Given the description of an element on the screen output the (x, y) to click on. 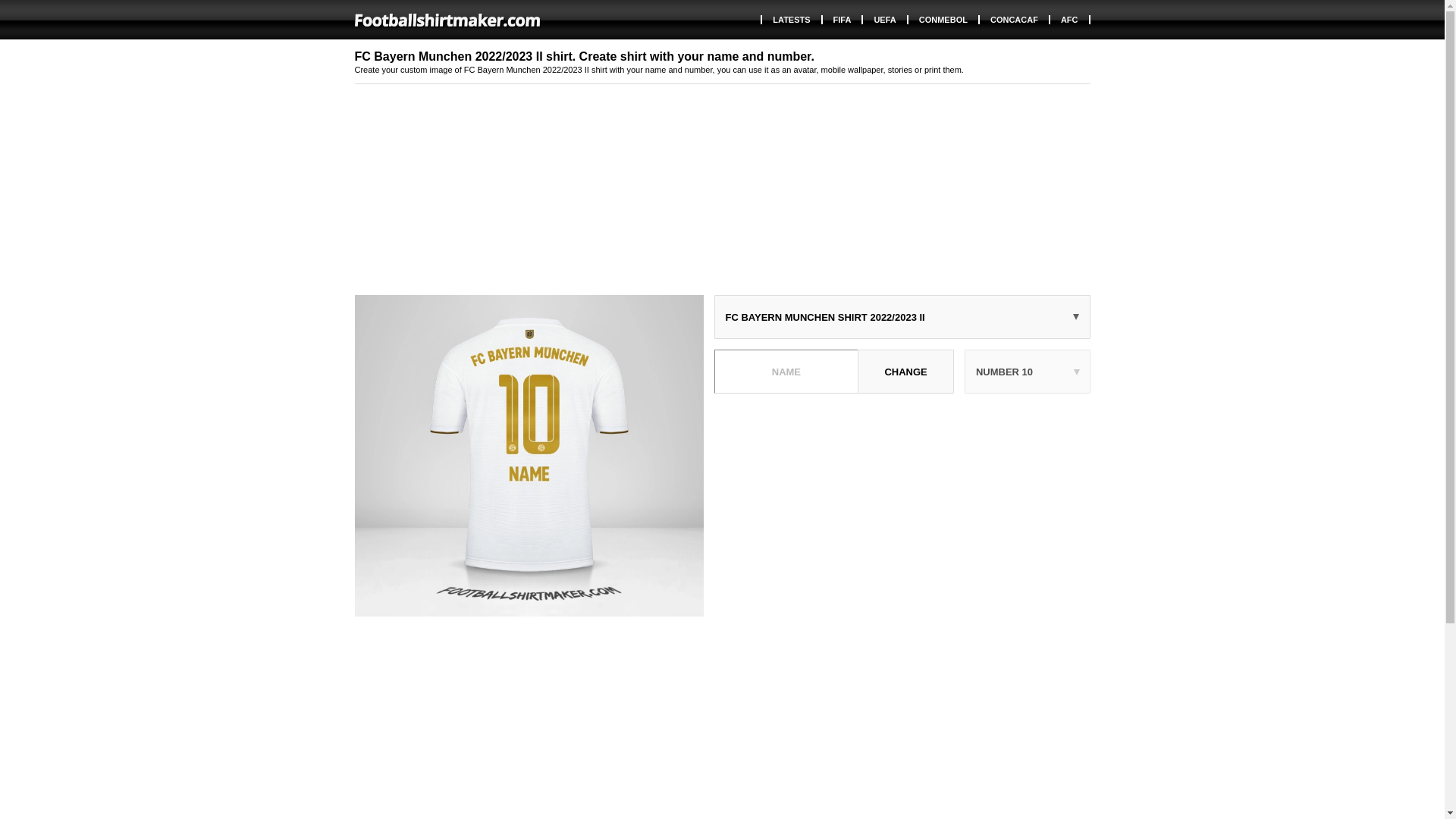
CHANGE (905, 371)
FIFA (842, 19)
CONCACAF (1014, 19)
Advertisement (902, 510)
LATESTS (791, 19)
UEFA (885, 19)
CONMEBOL (943, 19)
CHANGE (905, 371)
